Given the description of an element on the screen output the (x, y) to click on. 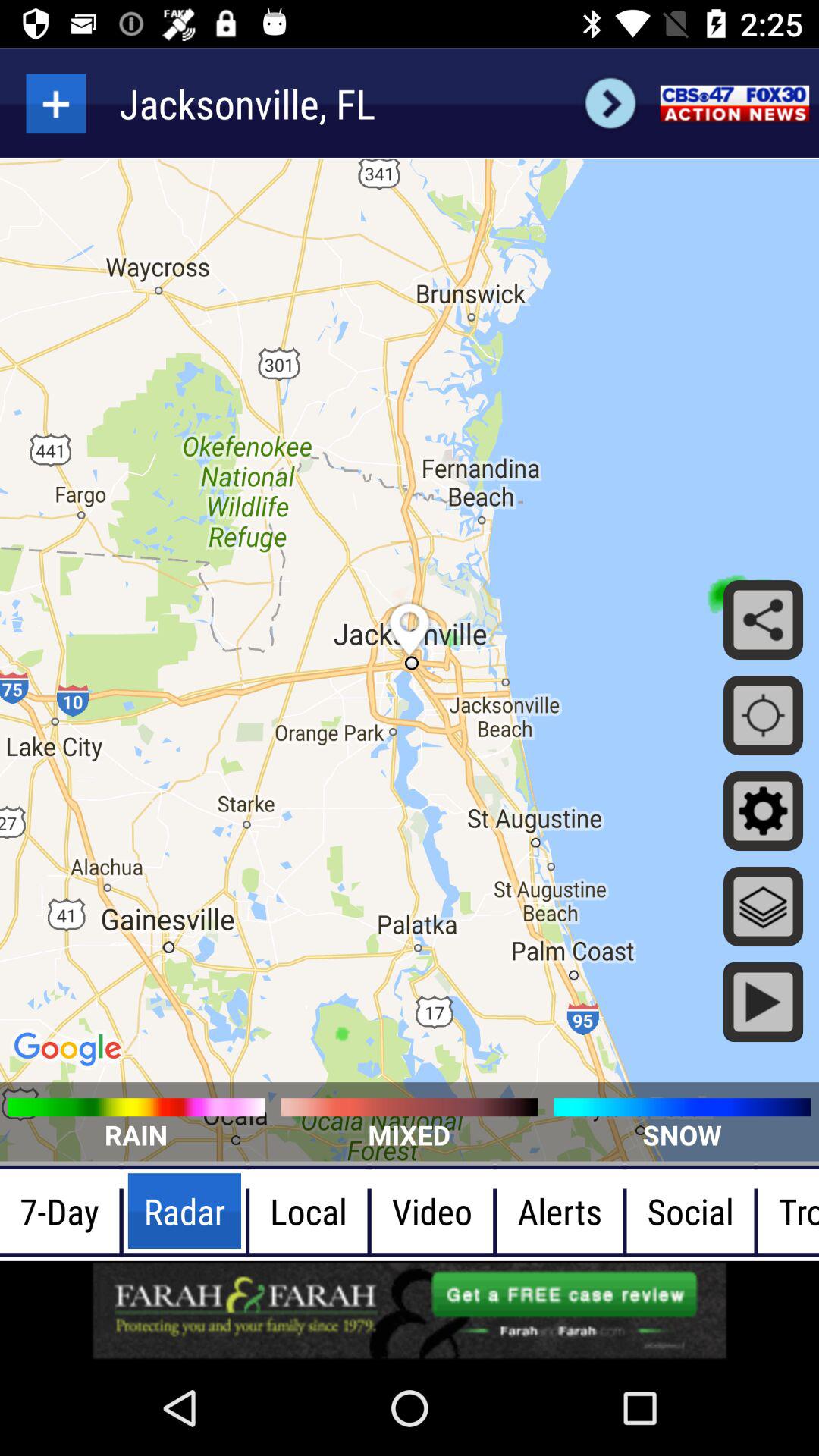
add option (55, 103)
